Given the description of an element on the screen output the (x, y) to click on. 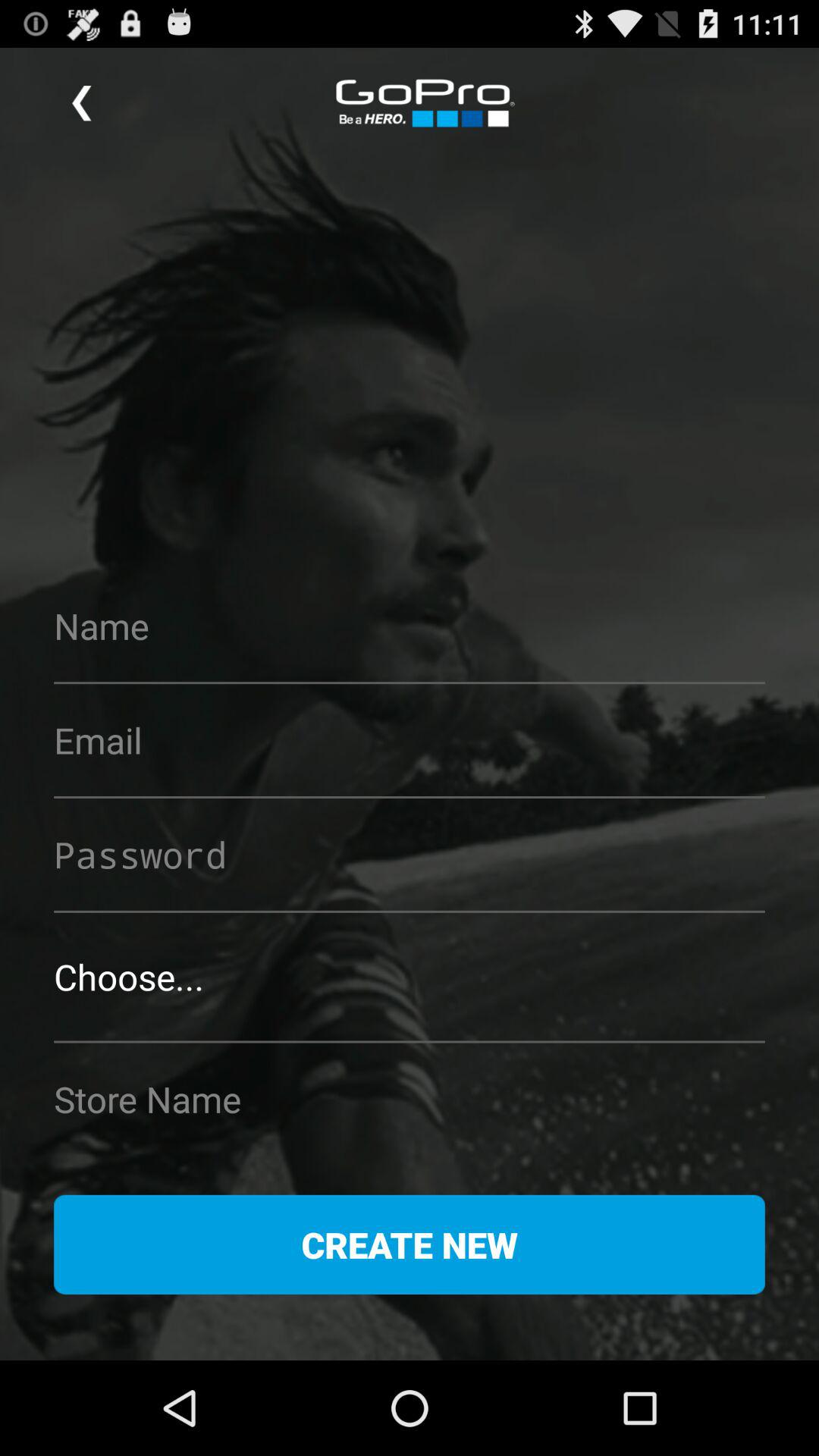
add store name (409, 1099)
